Given the description of an element on the screen output the (x, y) to click on. 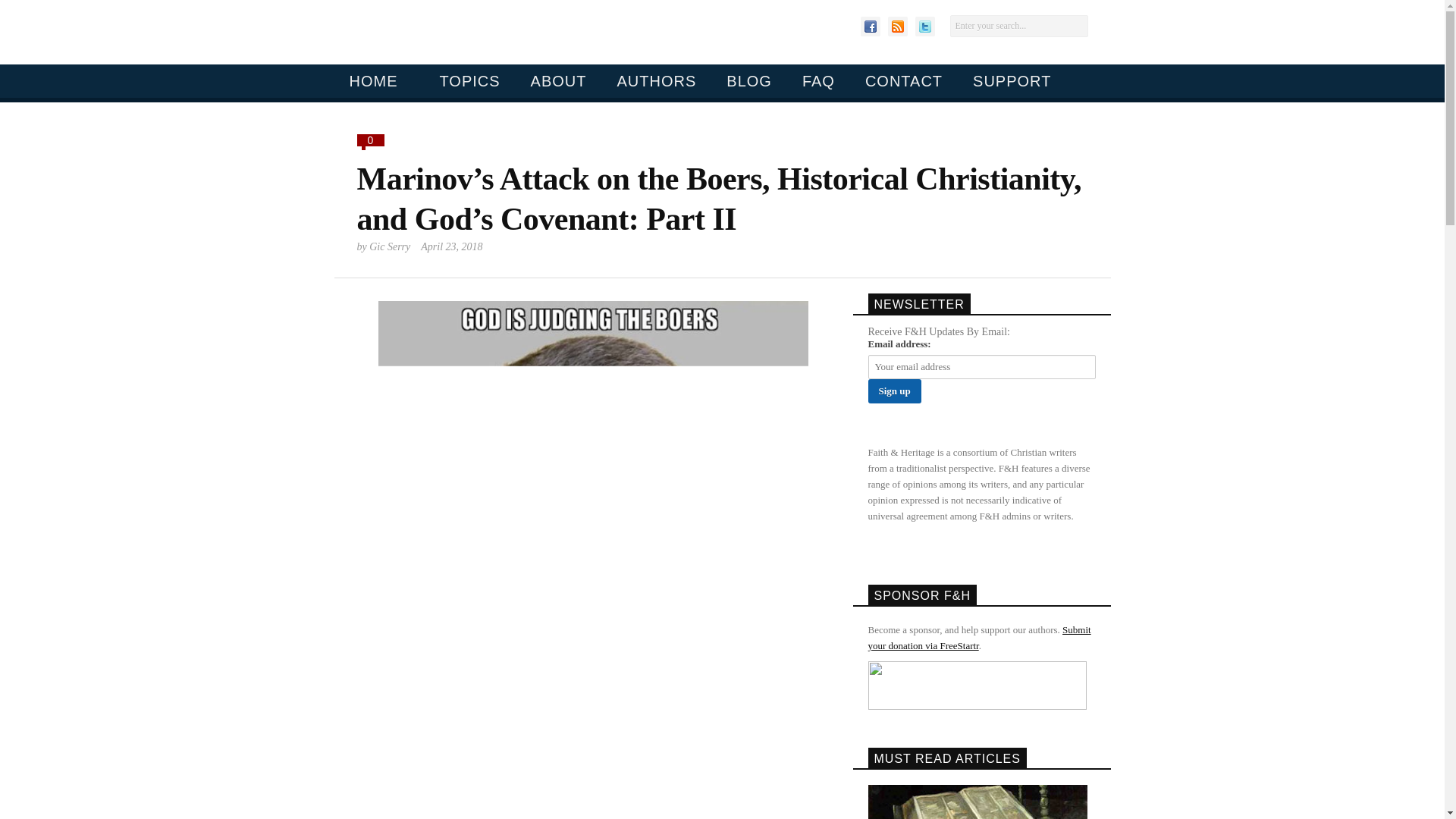
Posts by Gic Serry (389, 246)
Sign up (893, 391)
TOPICS (463, 80)
Enter your search... (1018, 25)
HOME (372, 80)
